Given the description of an element on the screen output the (x, y) to click on. 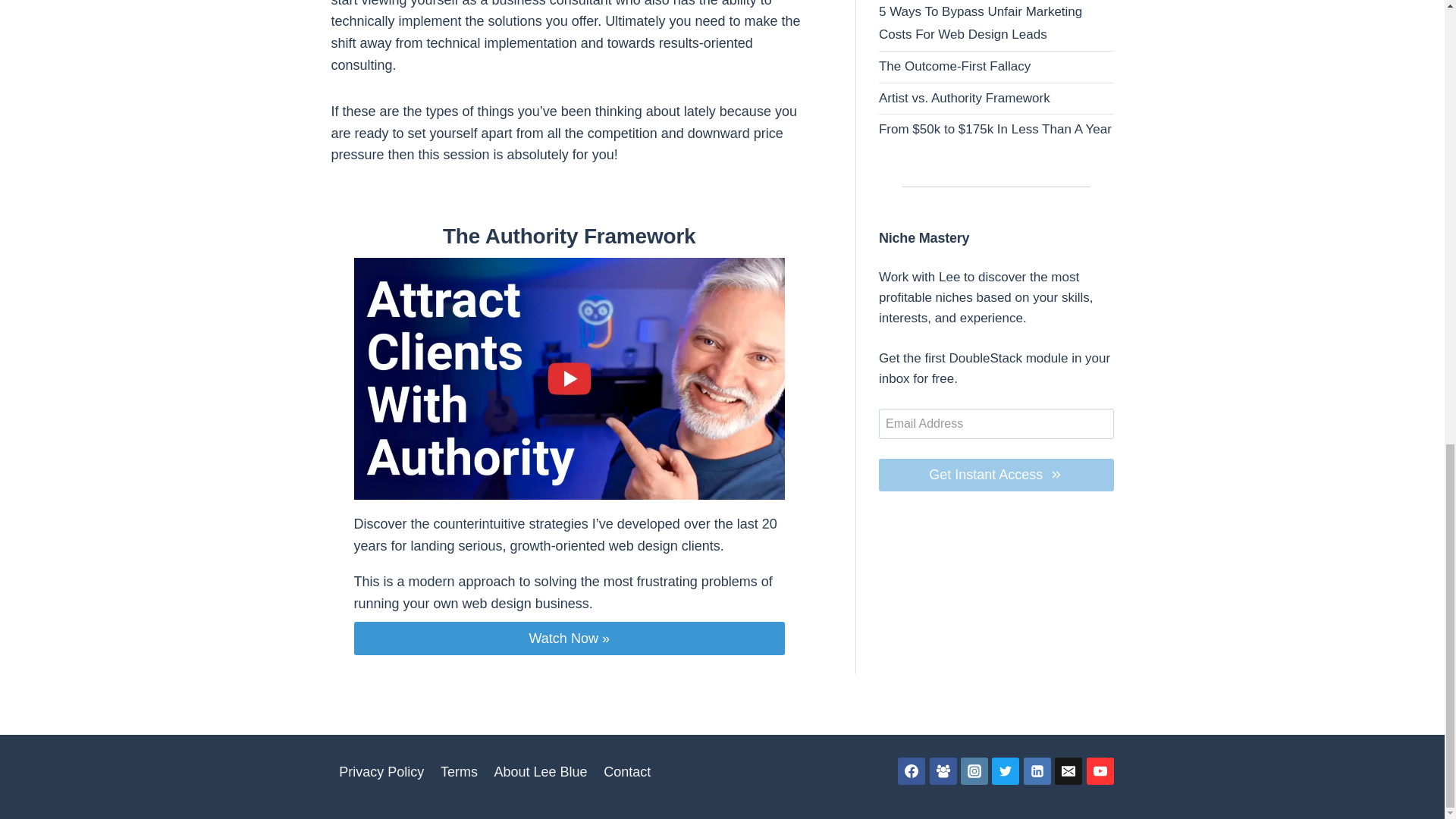
Contact (627, 772)
Privacy Policy (381, 772)
The Outcome-First Fallacy (954, 65)
5 Ways To Bypass Unfair Marketing Costs For Web Design Leads (980, 23)
Get Instant Access (996, 474)
About Lee Blue (540, 772)
Terms (459, 772)
Artist vs. Authority Framework (964, 97)
